Given the description of an element on the screen output the (x, y) to click on. 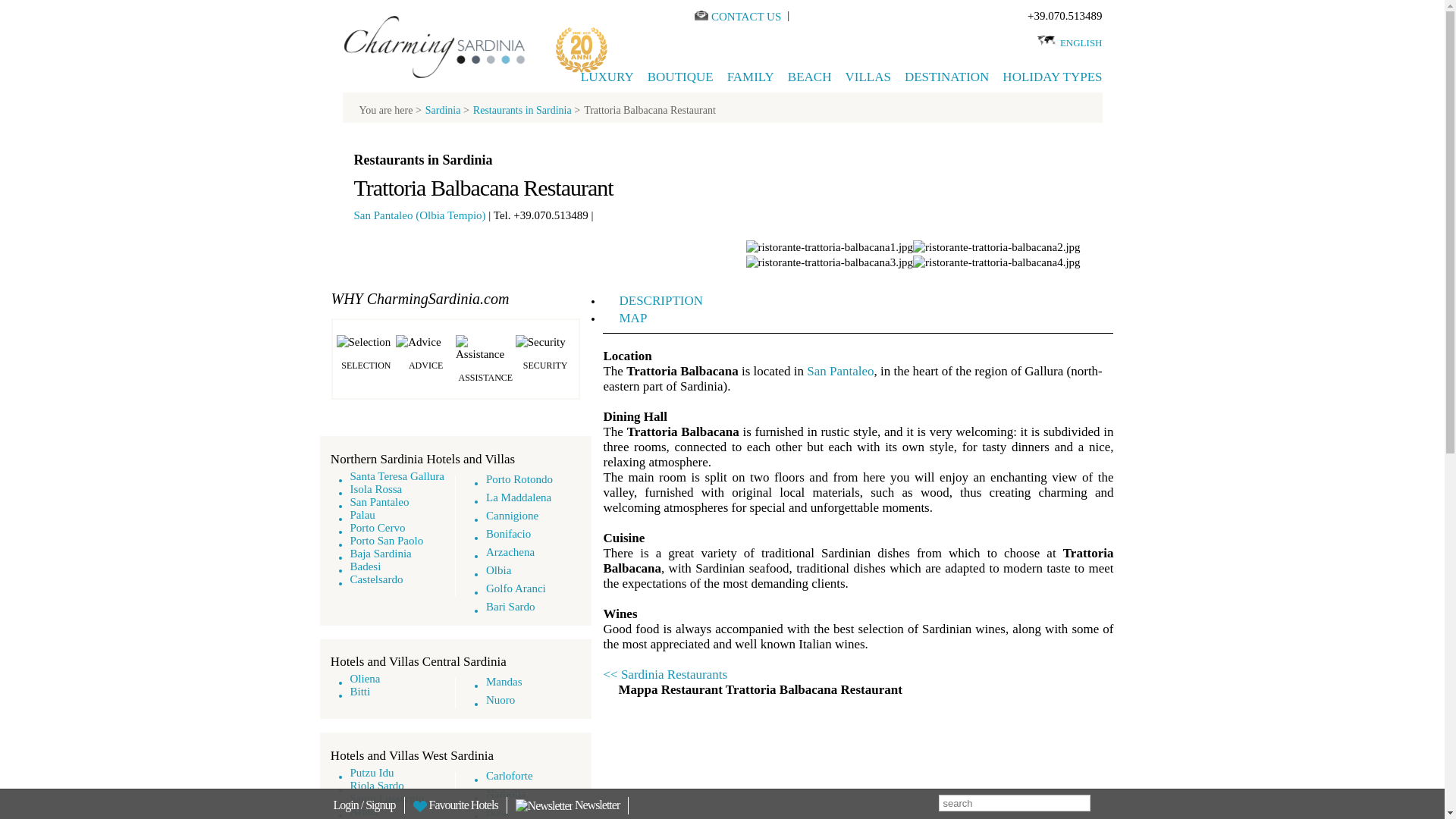
FAMILY (750, 76)
BEACH (809, 76)
Family (750, 76)
Luxury (606, 76)
VILLAS (866, 76)
LUXURY (606, 76)
Boutique (680, 76)
DESTINATION (946, 76)
BOUTIQUE (680, 76)
ENGLISH (1080, 43)
